Given the description of an element on the screen output the (x, y) to click on. 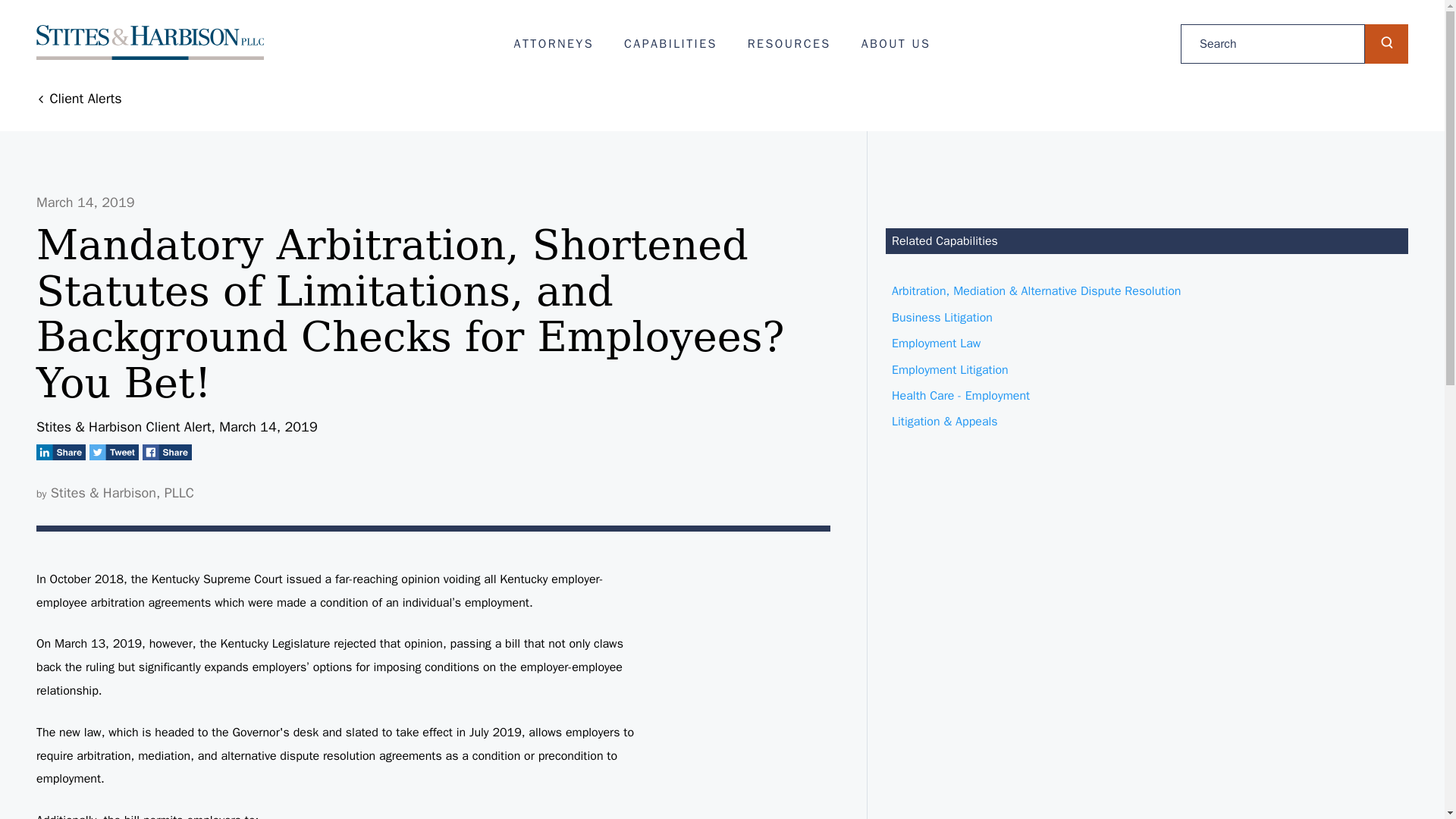
Employment Law (1146, 343)
Employment Litigation (1146, 370)
ATTORNEYS (553, 43)
RESOURCES (789, 43)
Client Alerts (79, 98)
CAPABILITIES (670, 43)
ABOUT US (895, 43)
Business Litigation (1146, 317)
Health Care - Employment (1146, 395)
